Given the description of an element on the screen output the (x, y) to click on. 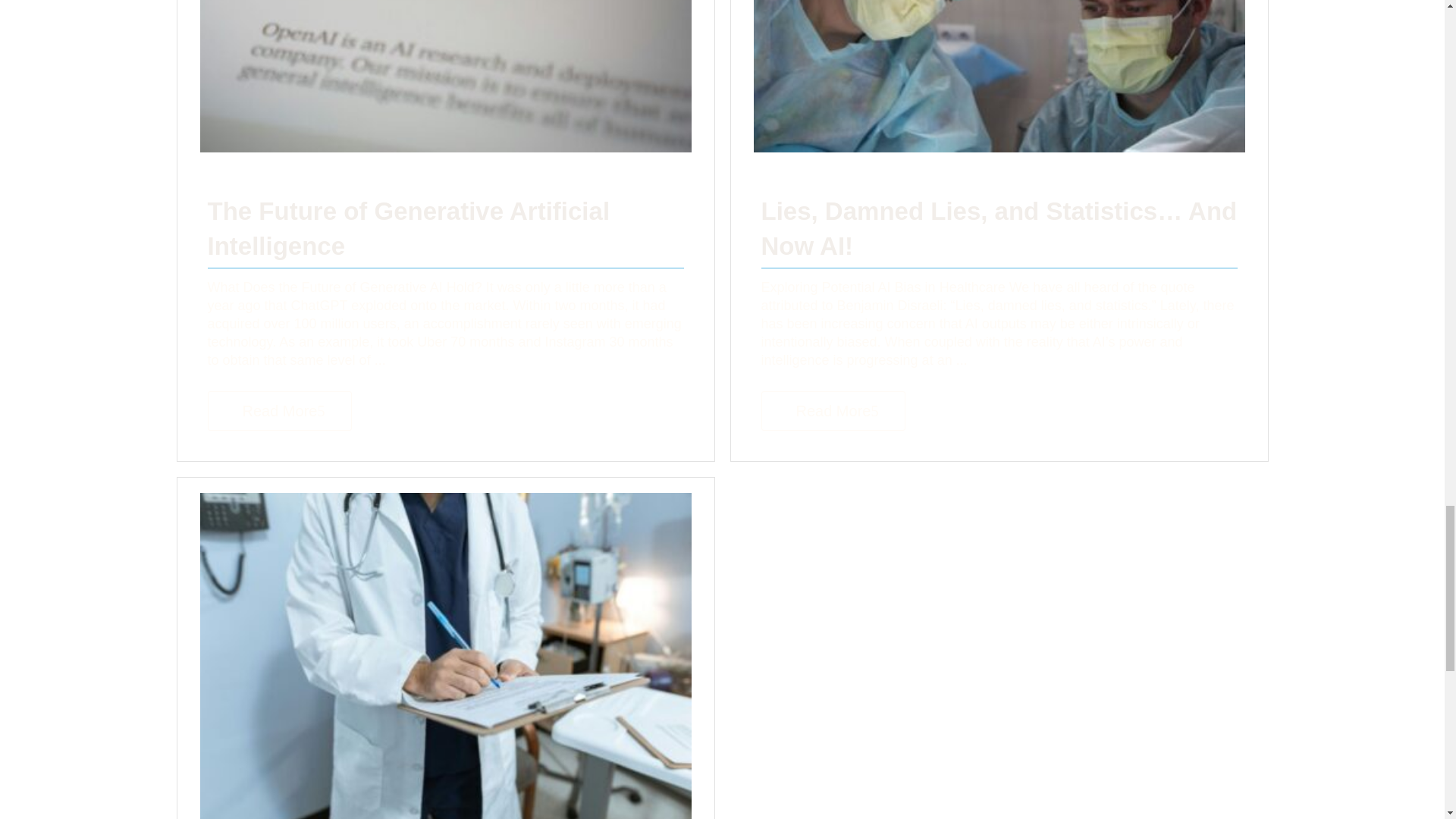
Read More (280, 410)
Read More (833, 410)
The Future of Generative Artificial Intelligence (409, 228)
